Given the description of an element on the screen output the (x, y) to click on. 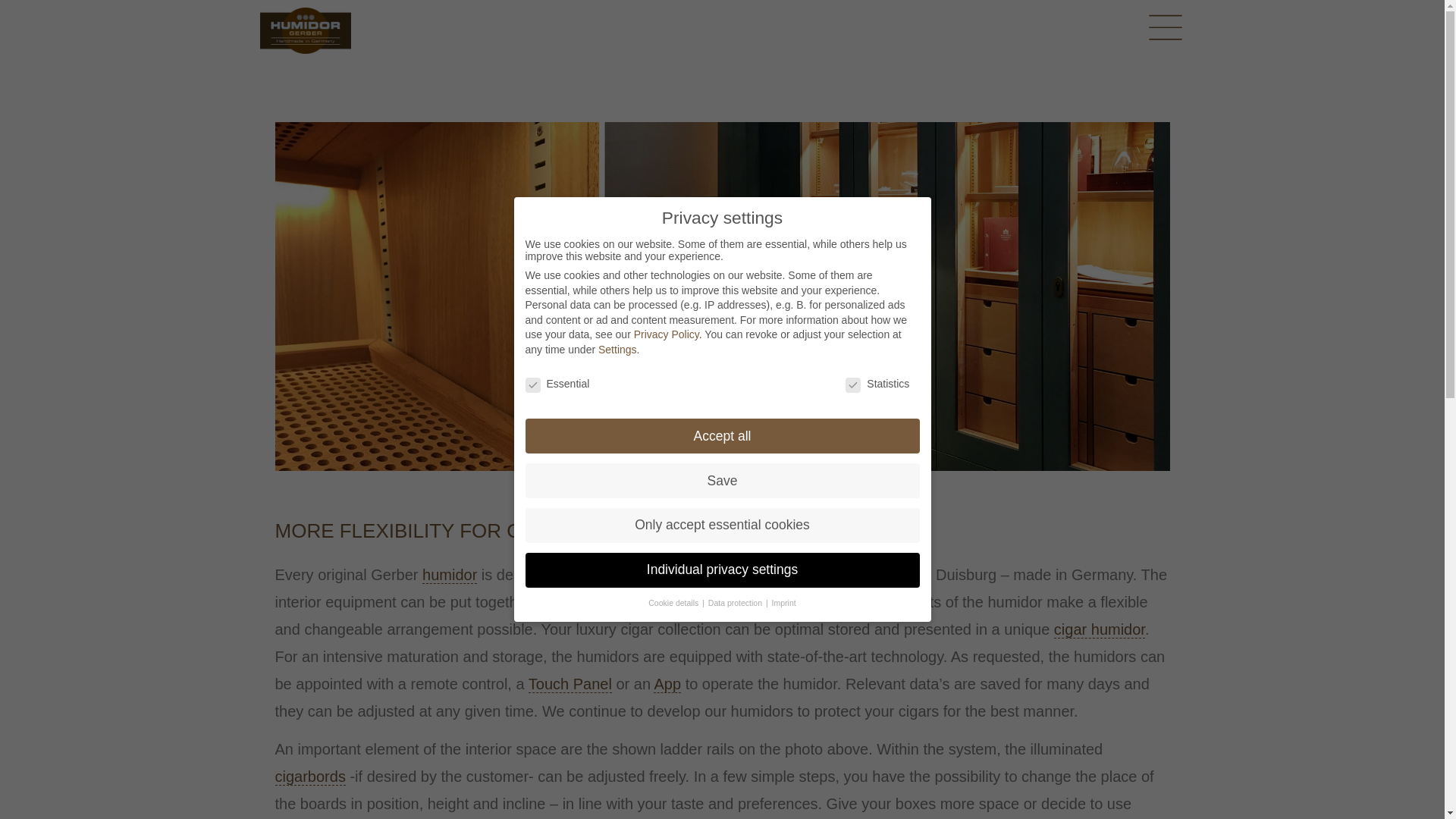
cigar humidor (1099, 629)
App (667, 683)
humidor (449, 574)
cigarbords (310, 776)
Touch Panel (569, 683)
